Given the description of an element on the screen output the (x, y) to click on. 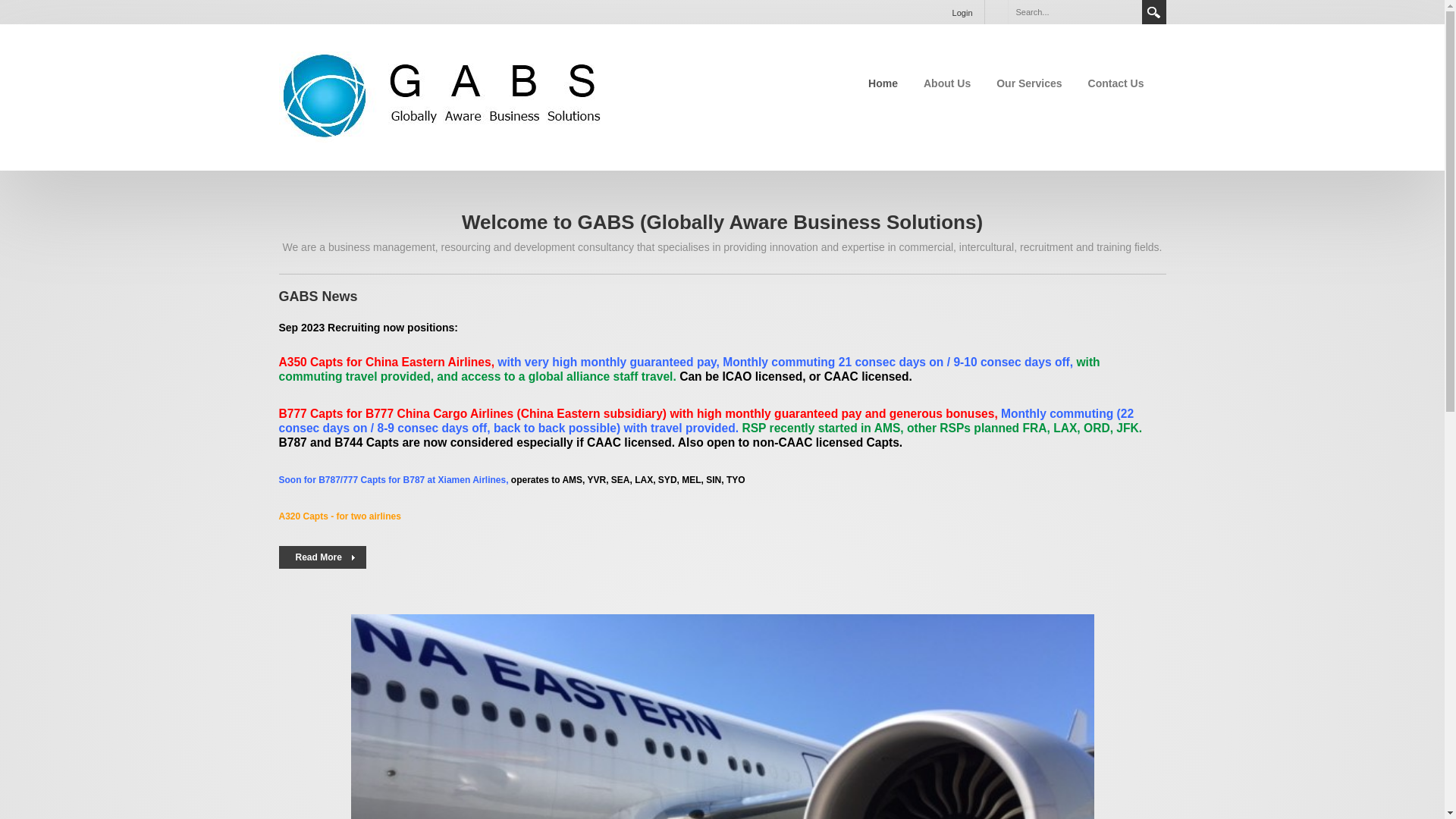
Our Services Element type: text (1029, 83)
Clear search text Element type: hover (1126, 11)
Home Element type: text (882, 83)
Login Element type: text (962, 12)
Contact Us Element type: text (1115, 83)
Globally Aware Business Solutions Element type: hover (442, 95)
Read More Element type: text (322, 557)
About Us Element type: text (947, 83)
Search Element type: text (1154, 12)
